Given the description of an element on the screen output the (x, y) to click on. 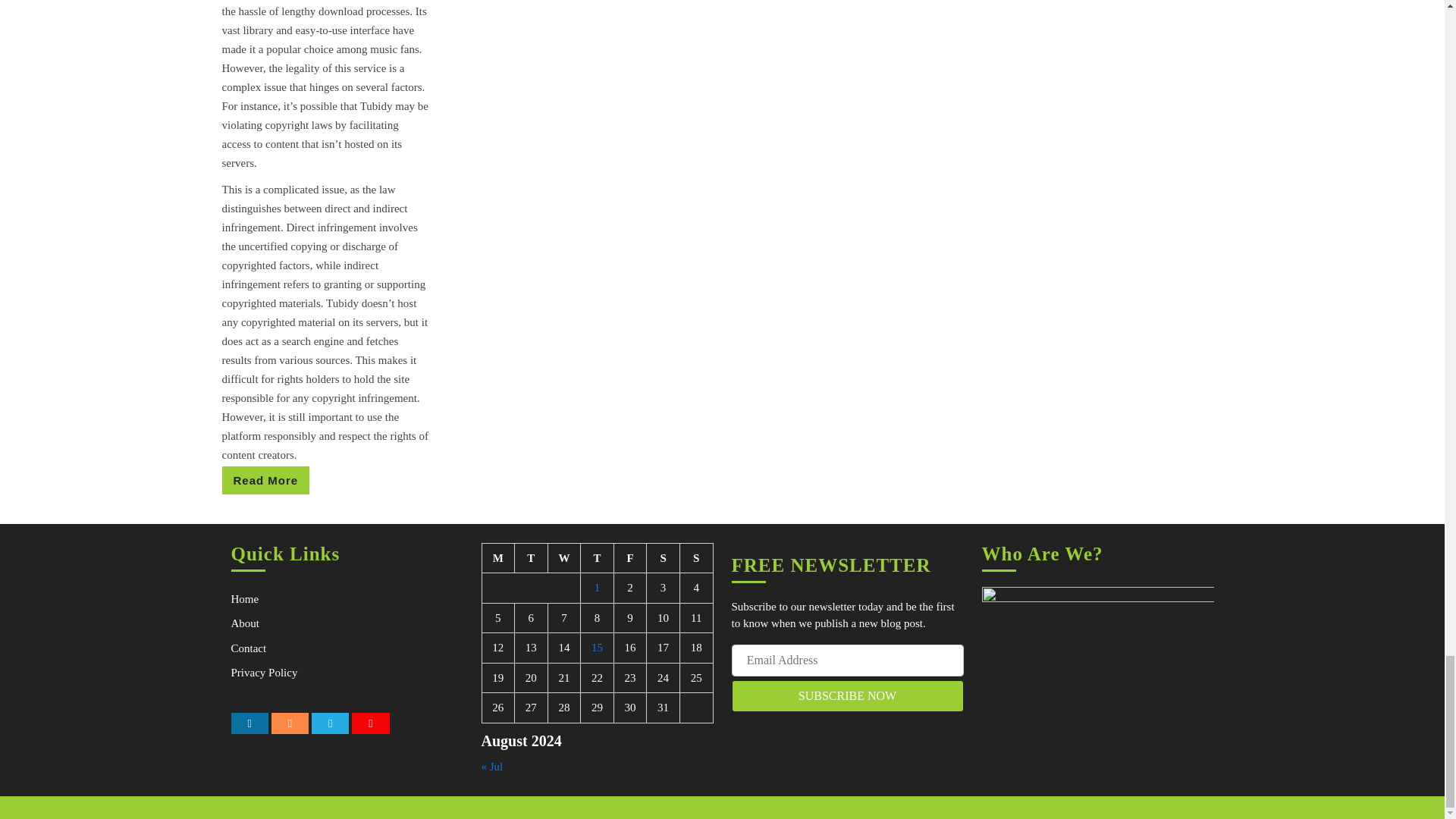
Tuesday (531, 557)
Saturday (662, 557)
Sunday (696, 557)
SUBSCRIBE NOW (846, 695)
Monday (498, 557)
Wednesday (264, 480)
Friday (563, 557)
Thursday (629, 557)
